Given the description of an element on the screen output the (x, y) to click on. 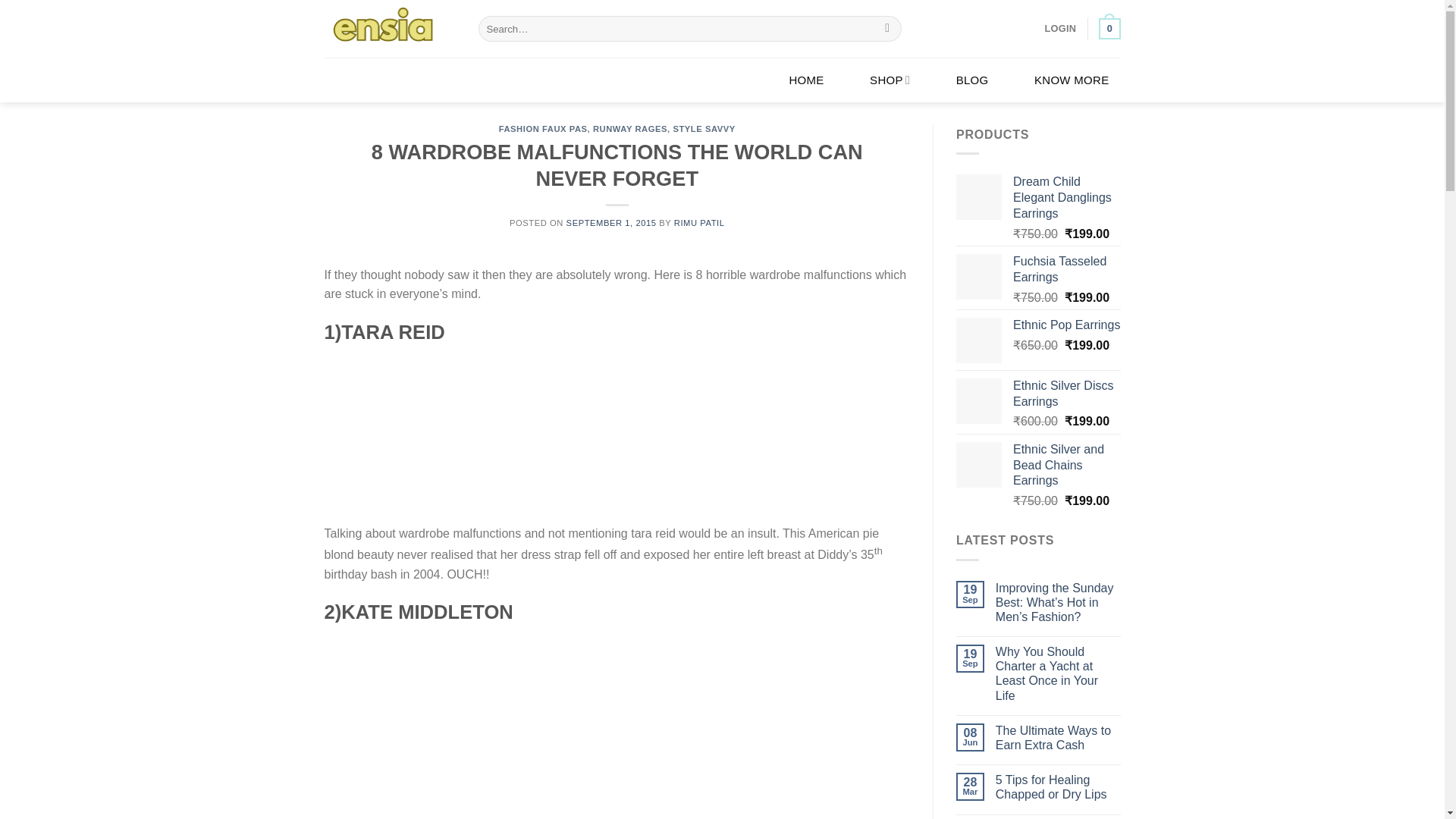
SEPTEMBER 1, 2015 (611, 222)
HOME (805, 79)
KNOW MORE (1072, 79)
FASHION FAUX PAS (543, 128)
Login (1061, 28)
STYLE SAVVY (703, 128)
LOGIN (1061, 28)
BLOG (972, 79)
Know More (1072, 79)
RIMU PATIL (699, 222)
